Given the description of an element on the screen output the (x, y) to click on. 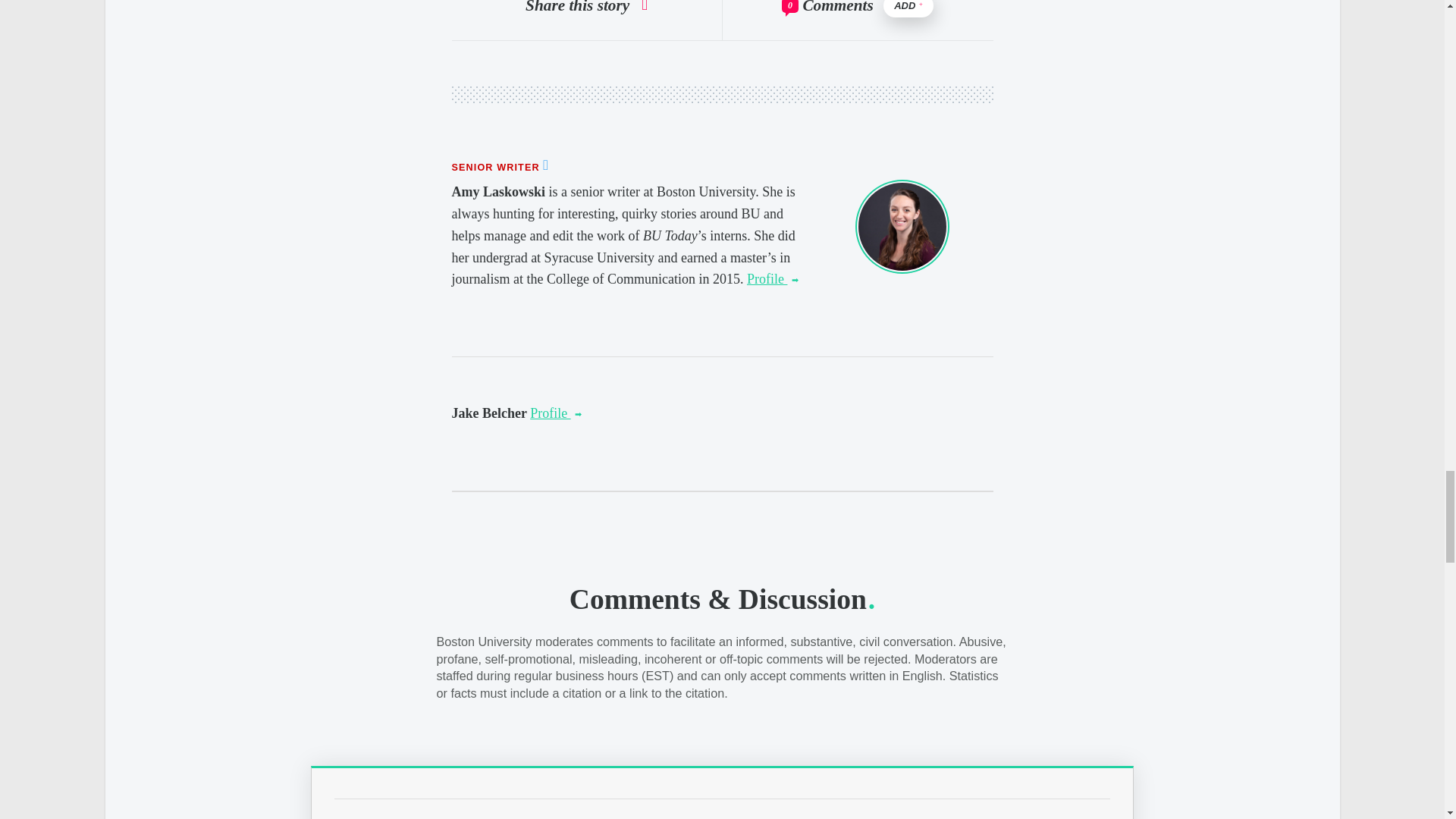
0 (789, 6)
ADD (908, 8)
